Given the description of an element on the screen output the (x, y) to click on. 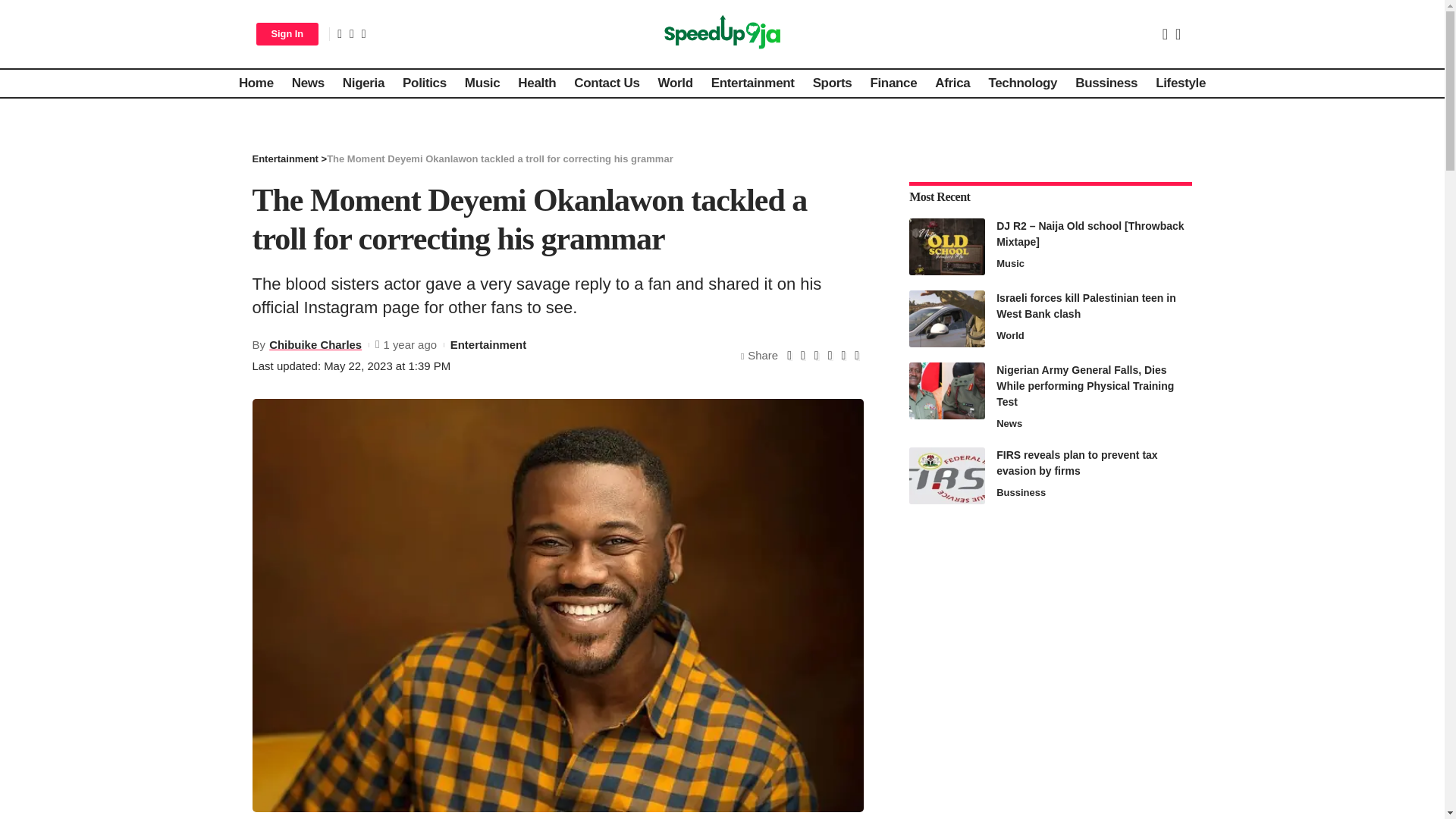
SpeedUp9ja (722, 33)
Sports (832, 82)
Go to the Entertainment Category archives. (284, 158)
Health (536, 82)
Entertainment (752, 82)
News (307, 82)
Technology (1021, 82)
World (675, 82)
Israeli forces kill Palestinian teen in West Bank clash (946, 318)
